Given the description of an element on the screen output the (x, y) to click on. 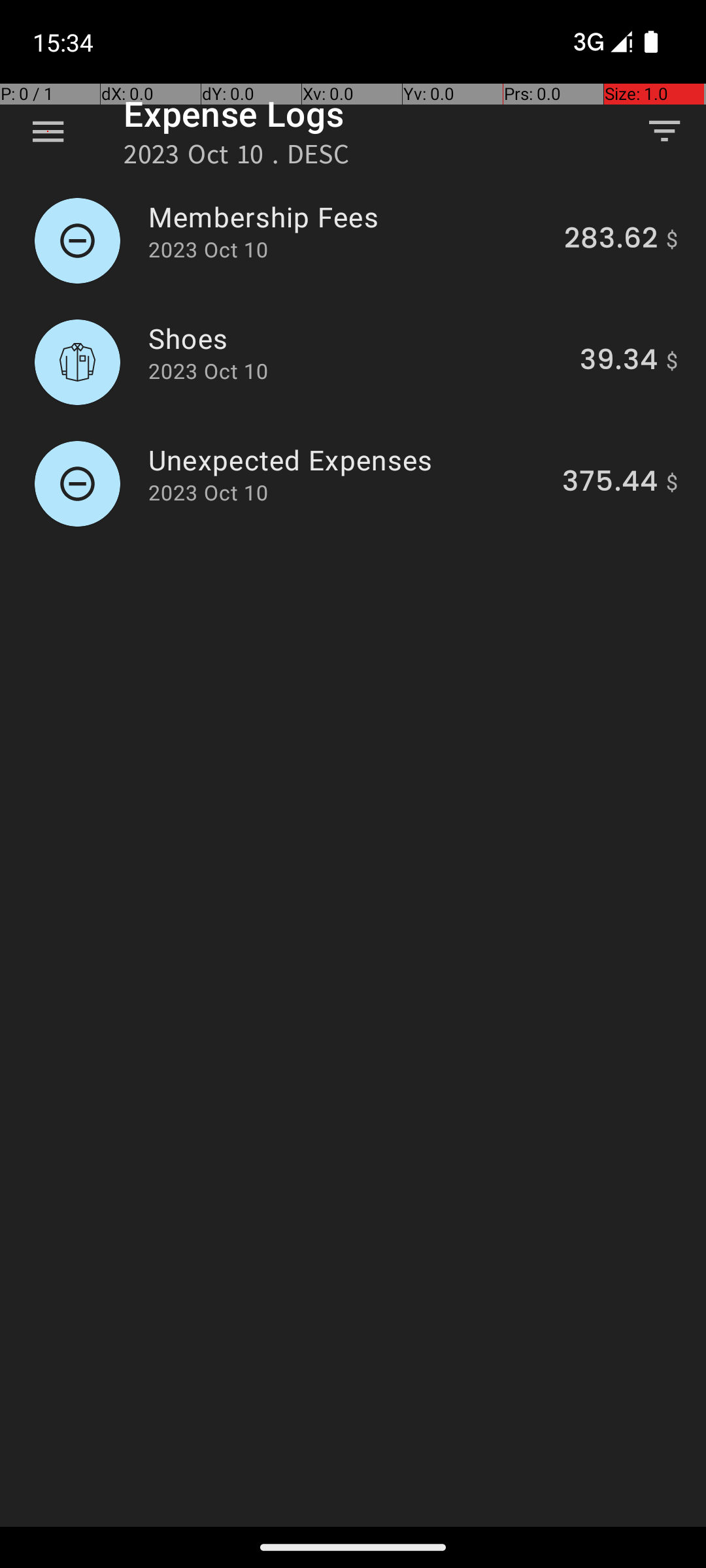
Expense Logs Element type: android.widget.TextView (233, 113)
2023 Oct 10 . DESC Element type: android.widget.TextView (236, 157)
Filter Element type: android.widget.TextView (664, 131)
Membership Fees Element type: android.widget.TextView (348, 216)
283.62 Element type: android.widget.TextView (610, 240)
$ Element type: android.widget.TextView (671, 240)
Shoes Element type: android.widget.TextView (356, 337)
39.34 Element type: android.widget.TextView (618, 362)
Unexpected Expenses Element type: android.widget.TextView (347, 459)
375.44 Element type: android.widget.TextView (609, 483)
